Given the description of an element on the screen output the (x, y) to click on. 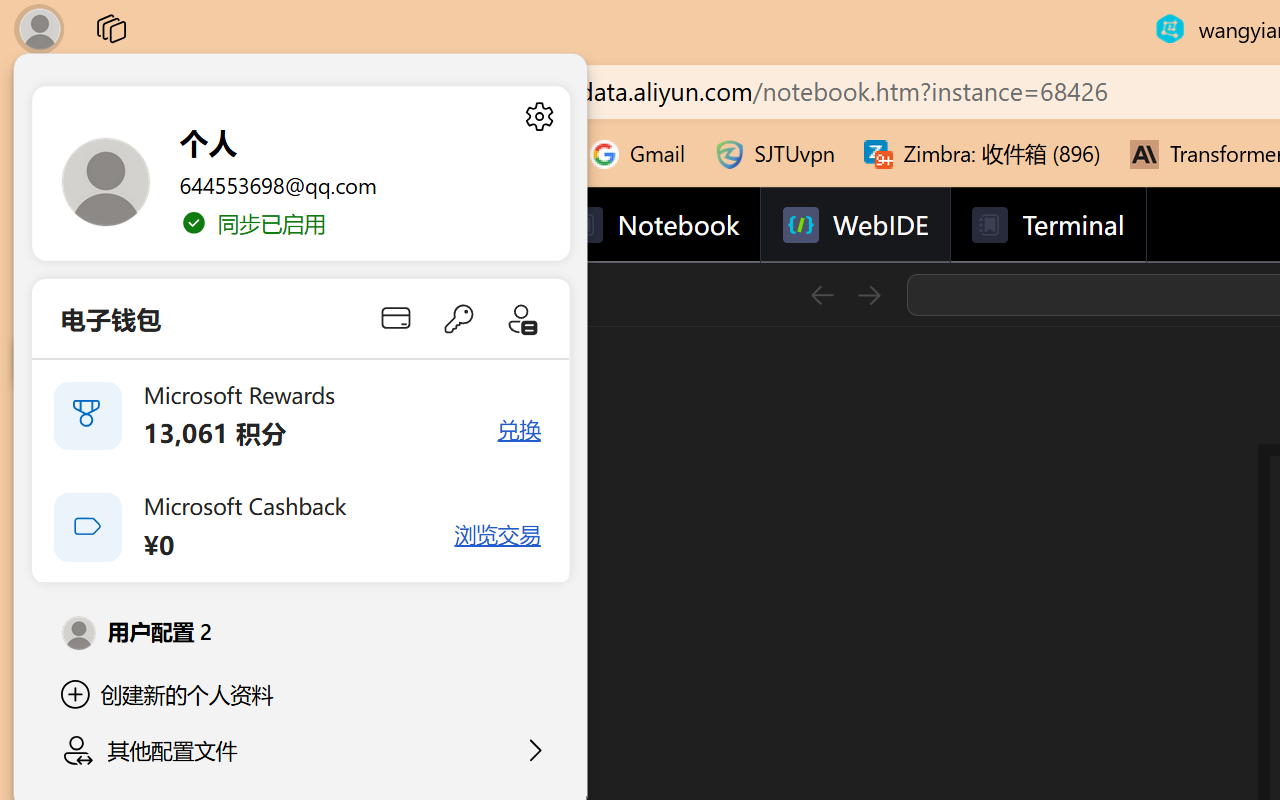
Go Back (Alt+LeftArrow) (821, 294)
Terminal (1046, 225)
WebIDE (854, 225)
SJTUvpn (774, 154)
